Given the description of an element on the screen output the (x, y) to click on. 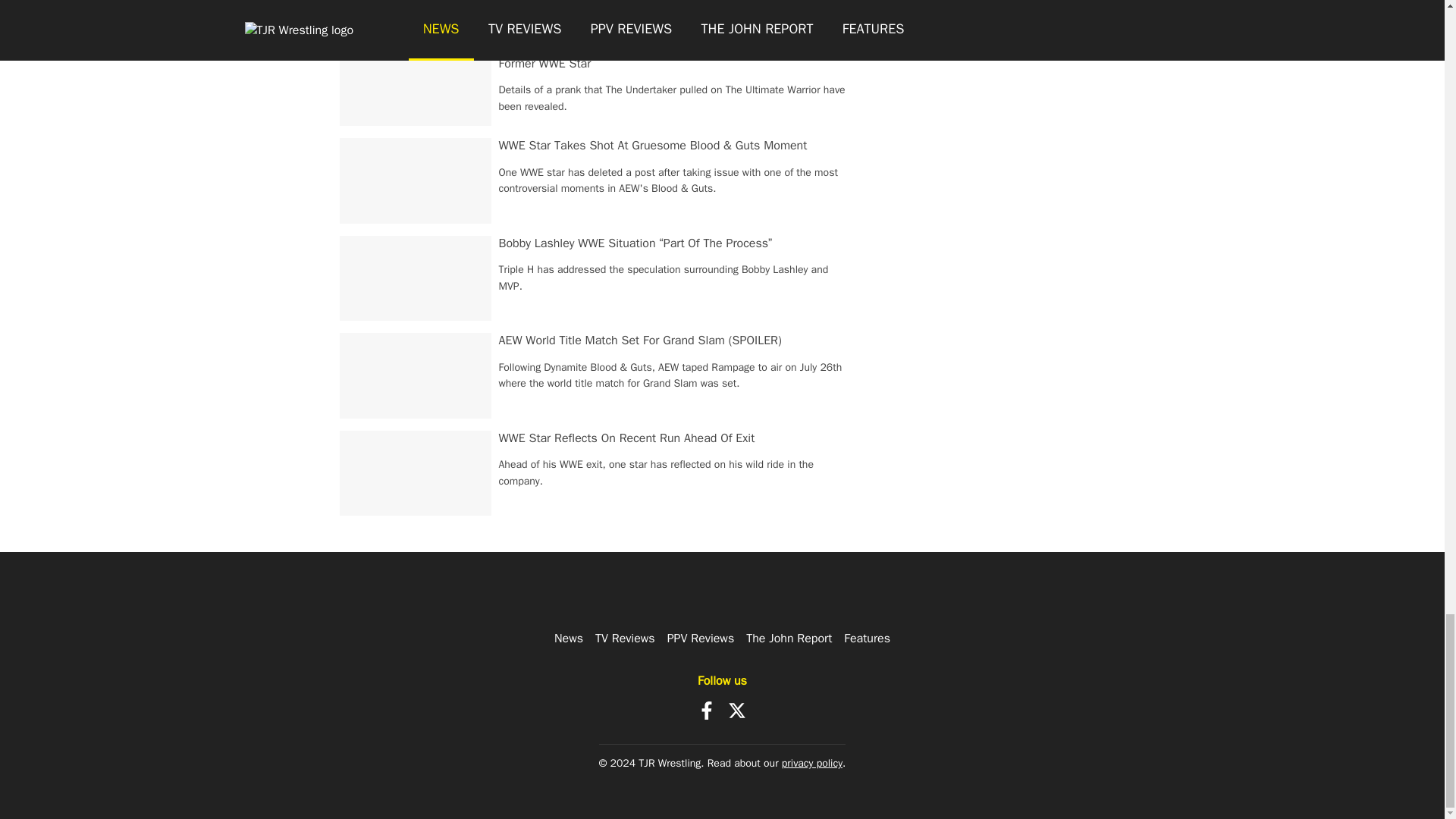
WWE Star Reflects On Recent Run Ahead Of Exit (627, 437)
X (736, 710)
Facebook (706, 710)
